Given the description of an element on the screen output the (x, y) to click on. 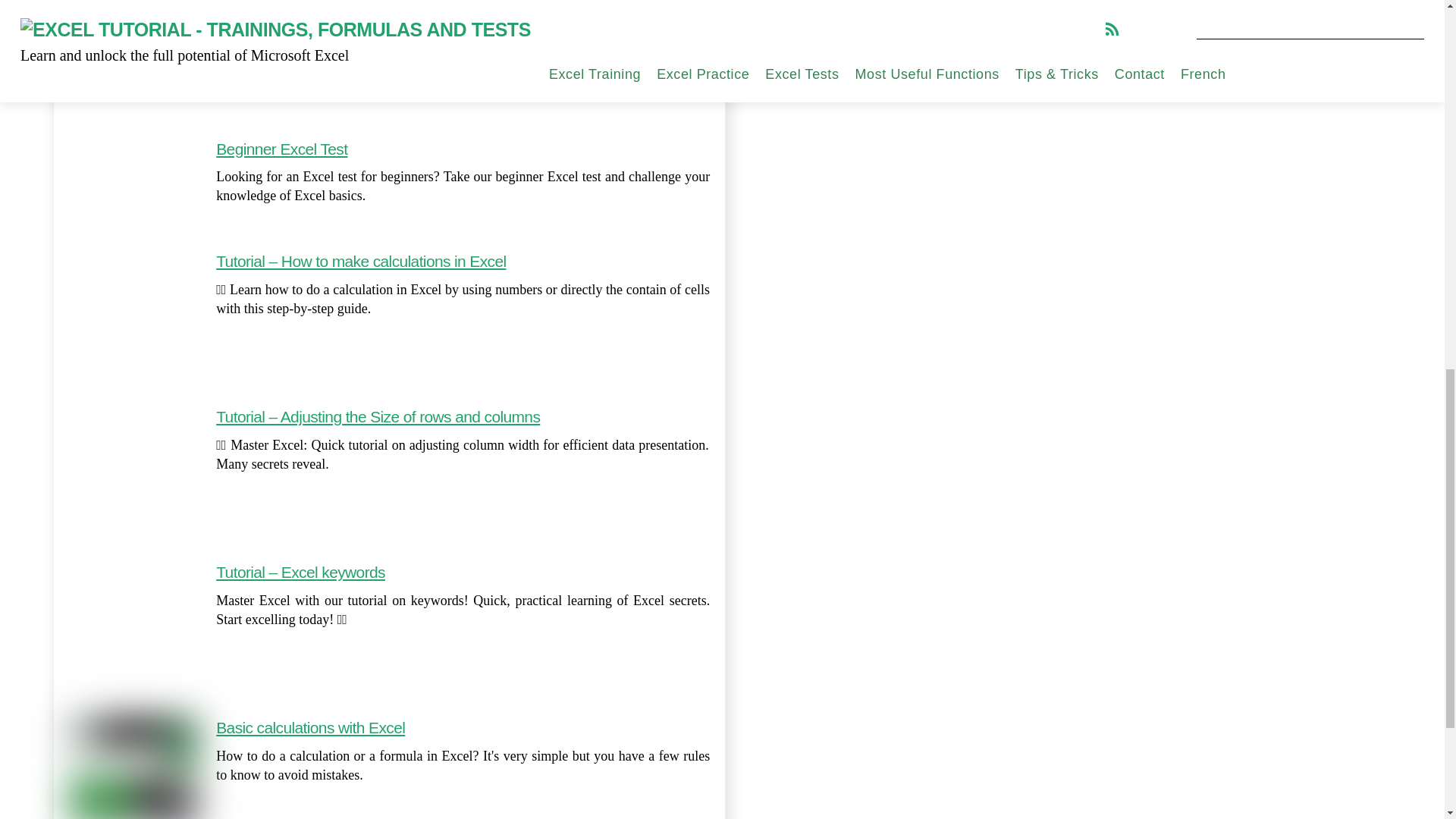
Study case: Calculate the result of the first quarter (379, 7)
Excel Beginner Cover (132, 182)
Basic Calculation Cover (132, 769)
picto formation 1 (132, 316)
Basic calculations with Excel (309, 727)
Microsoft MVP 2024 (1069, 13)
picto formation 1 (132, 627)
picto formation 1 (132, 471)
exercise picto (132, 56)
Beginner Excel Test (281, 149)
